Given the description of an element on the screen output the (x, y) to click on. 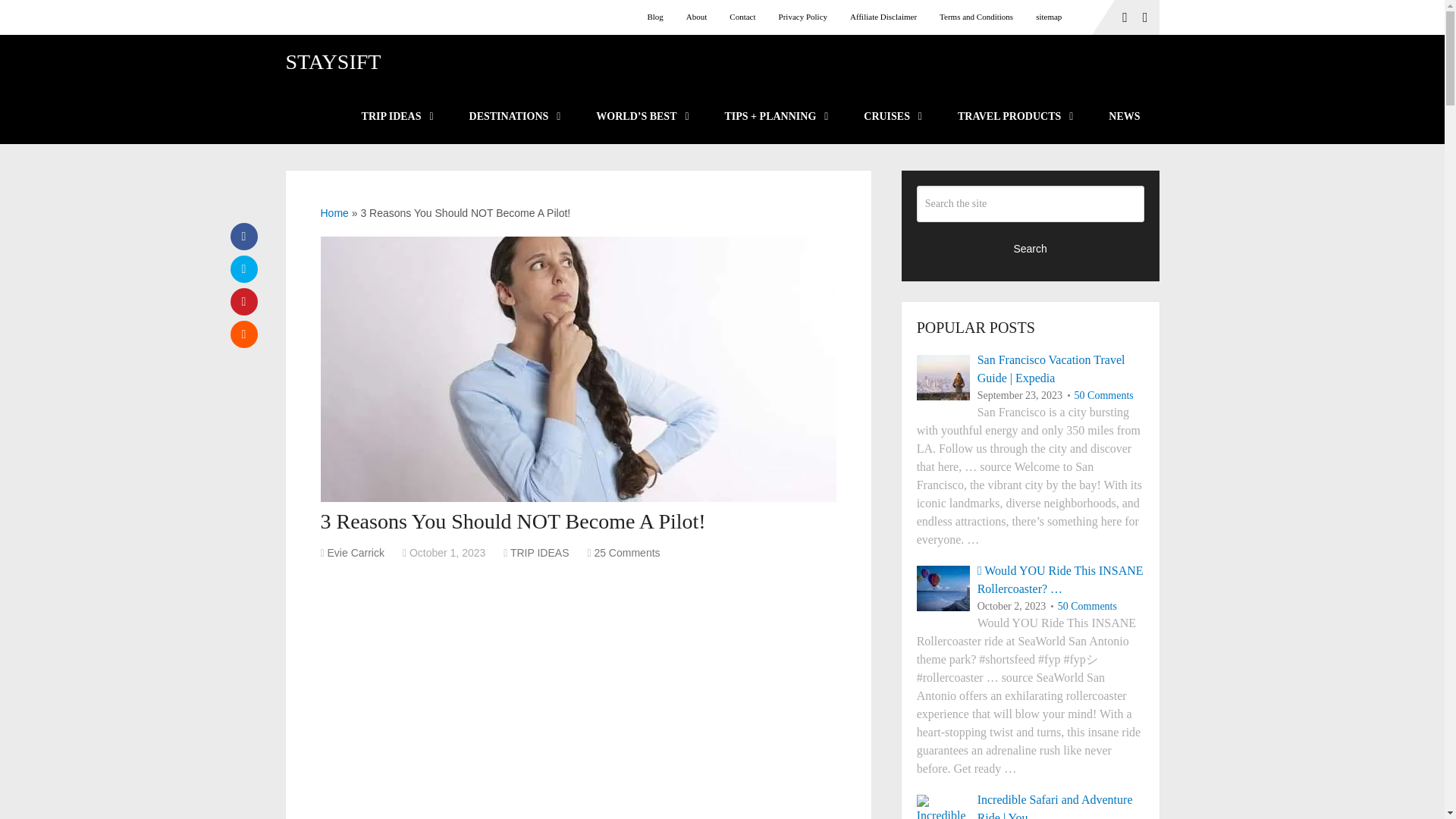
View all posts in TRIP IDEAS (540, 552)
Privacy Policy (802, 16)
DESTINATIONS (513, 116)
TRIP IDEAS (395, 116)
sitemap (1049, 16)
Affiliate Disclaimer (883, 16)
STAYSIFT (332, 61)
Posts by Evie Carrick (355, 552)
TRAVEL PRODUCTS (1014, 116)
CRUISES (891, 116)
